Given the description of an element on the screen output the (x, y) to click on. 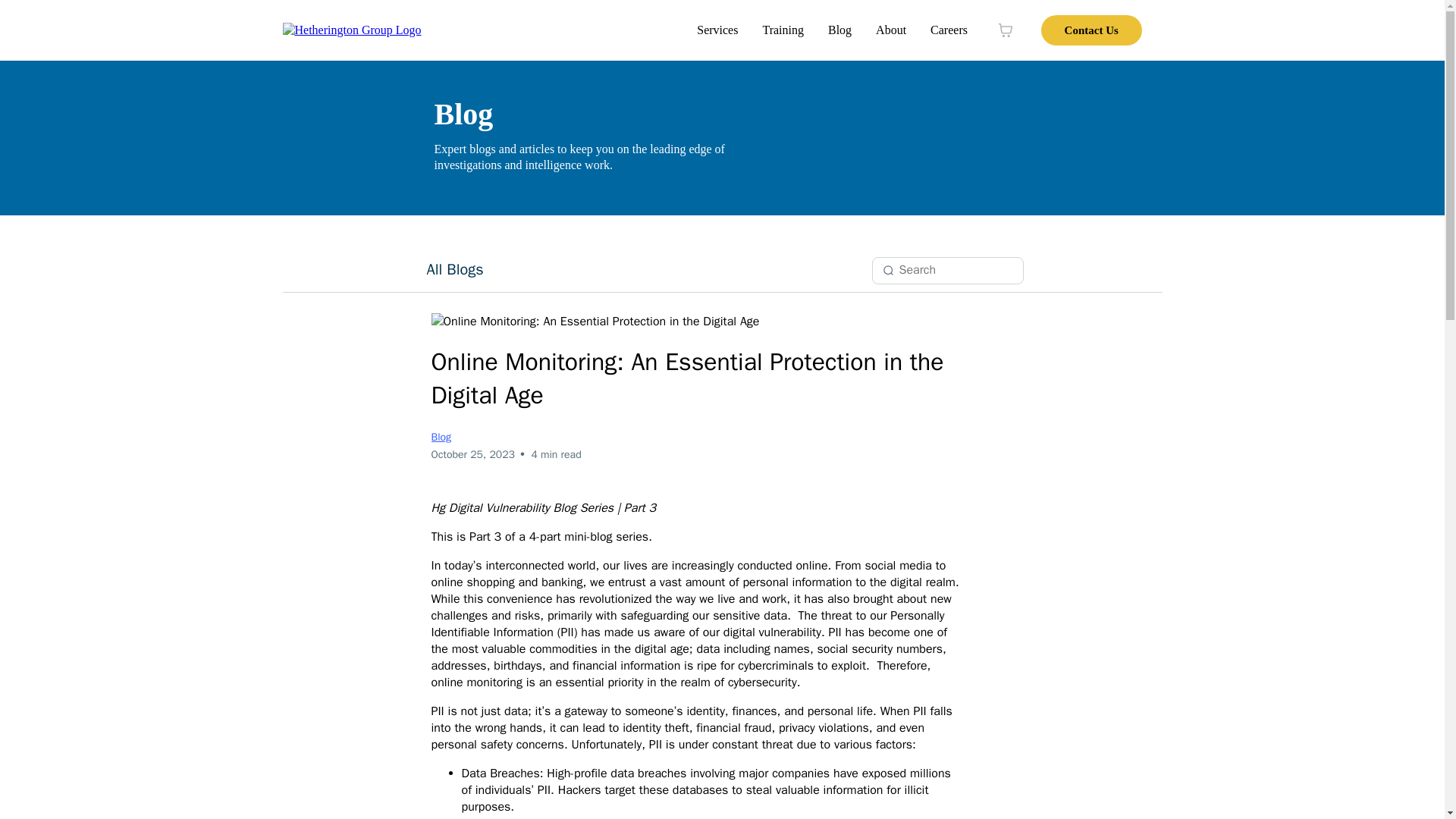
Services (716, 30)
All Blogs (453, 269)
About (890, 30)
Contact Us (1091, 30)
Blog (440, 436)
Blog (839, 30)
Careers (948, 30)
Training (782, 30)
